Given the description of an element on the screen output the (x, y) to click on. 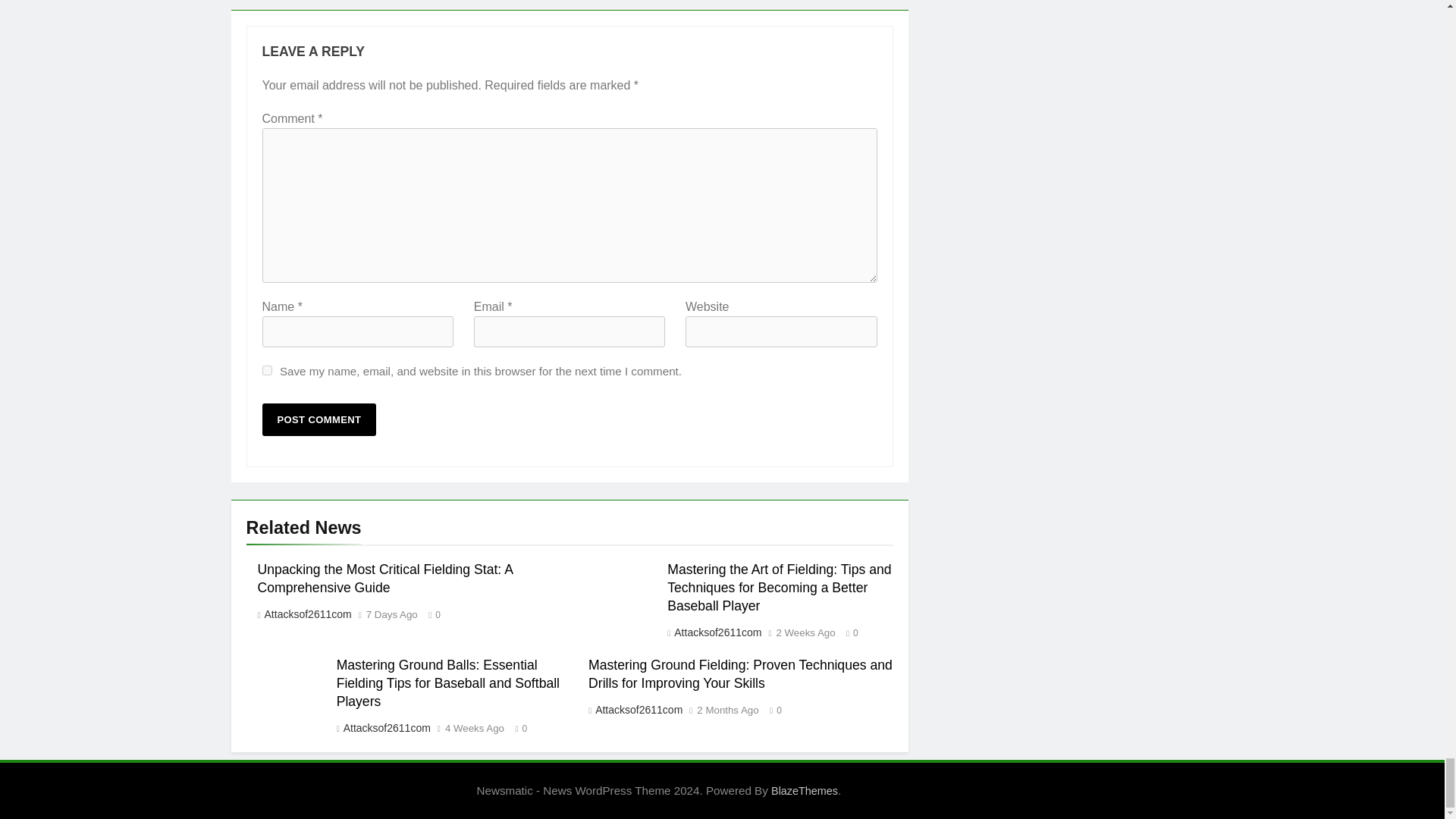
yes (267, 370)
Post Comment (319, 419)
